Given the description of an element on the screen output the (x, y) to click on. 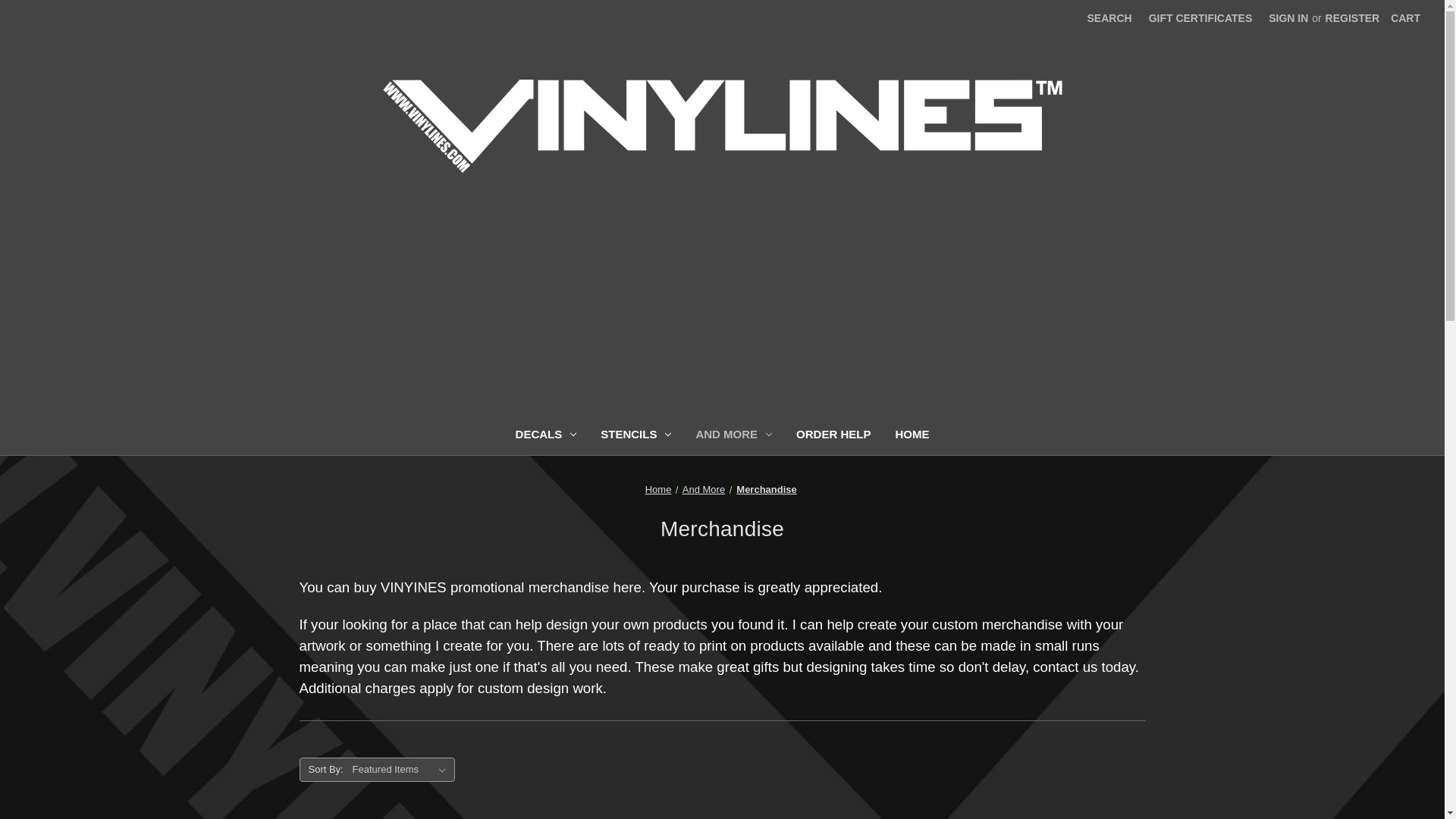
SIGN IN (1288, 18)
CART (1404, 18)
REGISTER (1353, 18)
GIFT CERTIFICATES (1200, 18)
DECALS (546, 436)
VINYLINES (722, 125)
SEARCH (1109, 18)
